Given the description of an element on the screen output the (x, y) to click on. 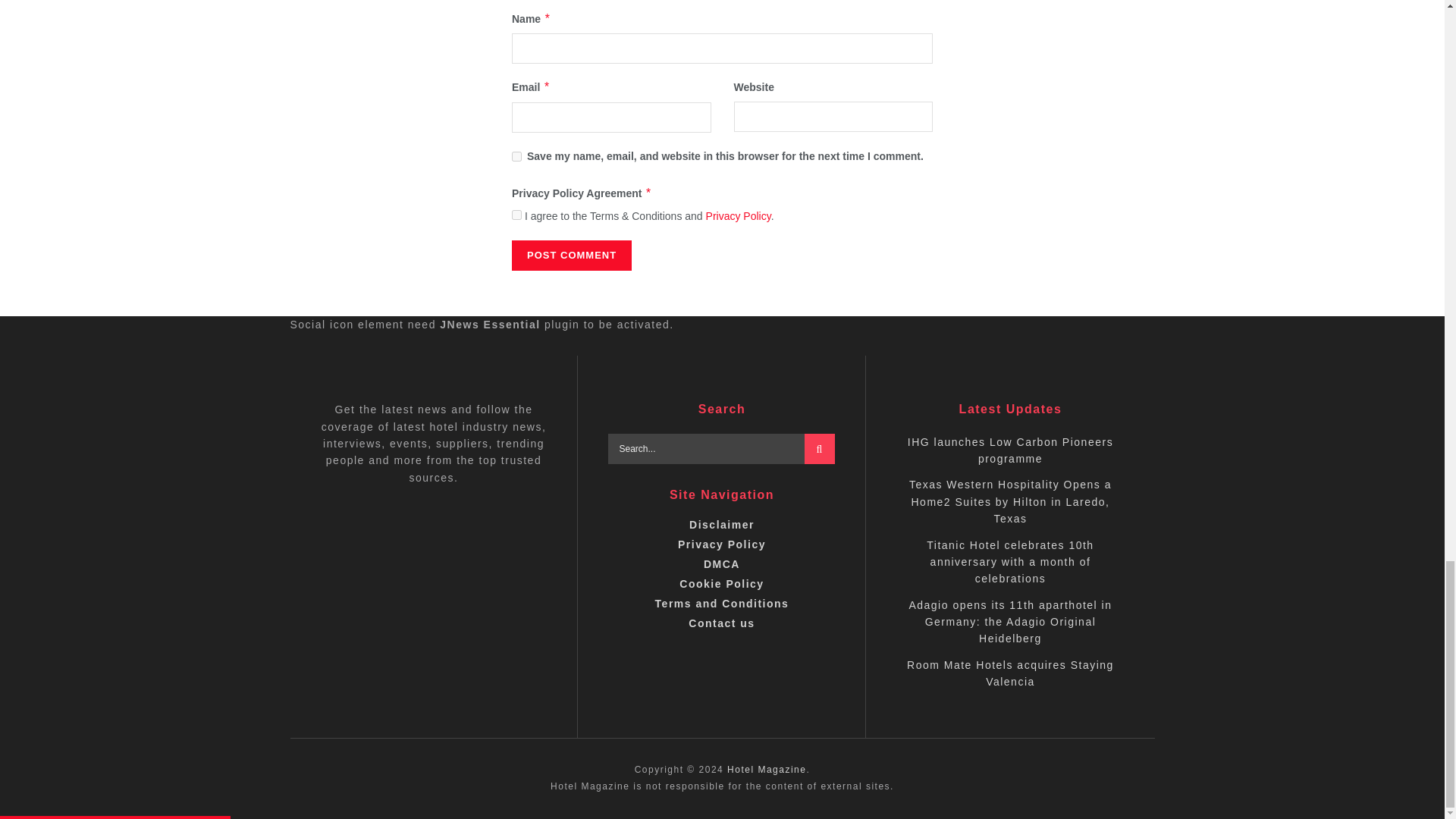
yes (516, 156)
Hotel Magazine (766, 769)
on (516, 214)
Post Comment (571, 255)
